Given the description of an element on the screen output the (x, y) to click on. 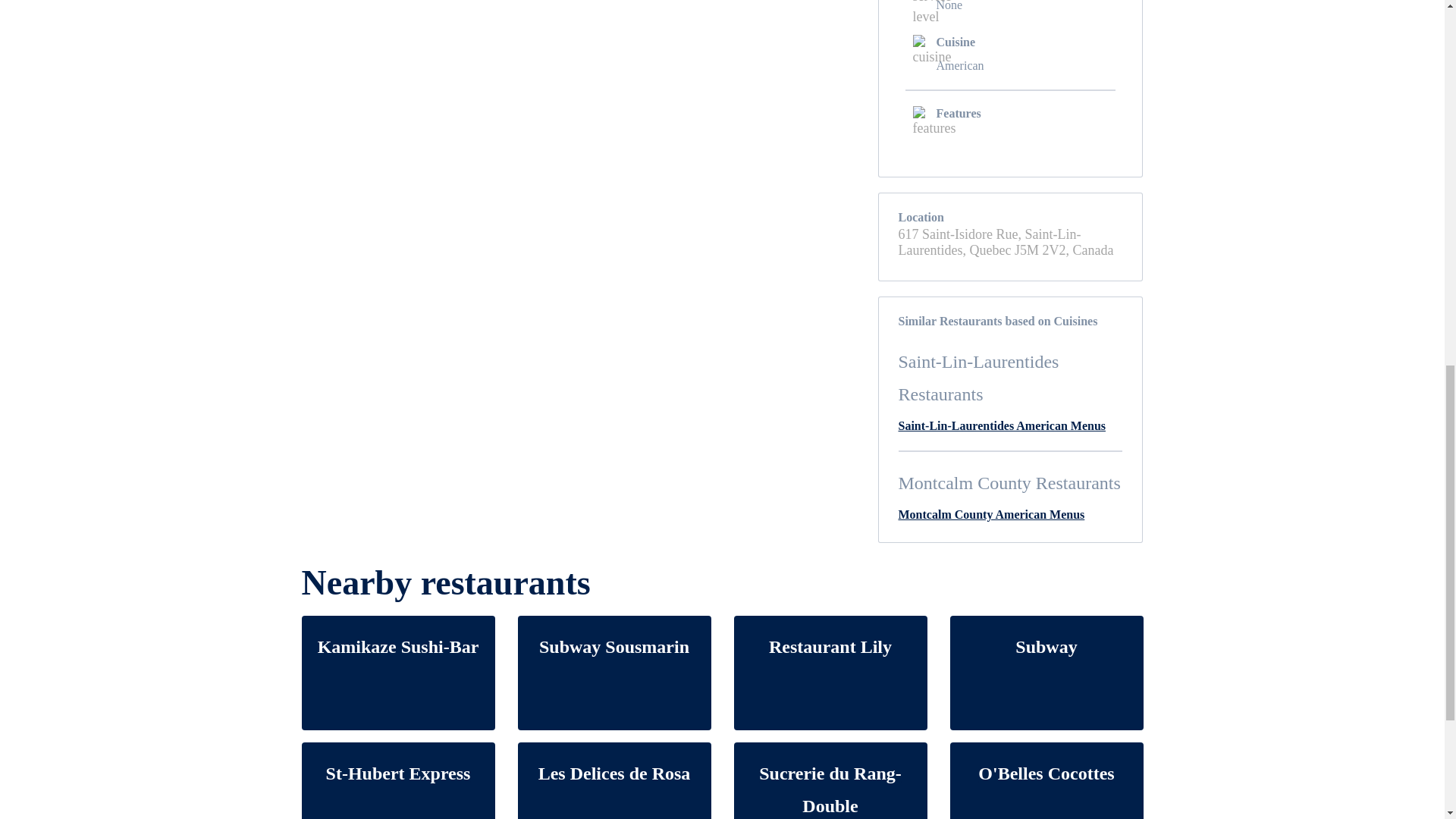
Restaurant Lily (830, 672)
Saint-Lin-Laurentides American Menus (1001, 425)
Sucrerie du Rang-Double (830, 780)
Les Delices de Rosa (613, 780)
Subway Sousmarin (613, 672)
Subway (1045, 672)
St-Hubert Express (398, 780)
O'Belles Cocottes (1045, 780)
Kamikaze Sushi-Bar (398, 672)
Montcalm County American Menus (991, 513)
